Given the description of an element on the screen output the (x, y) to click on. 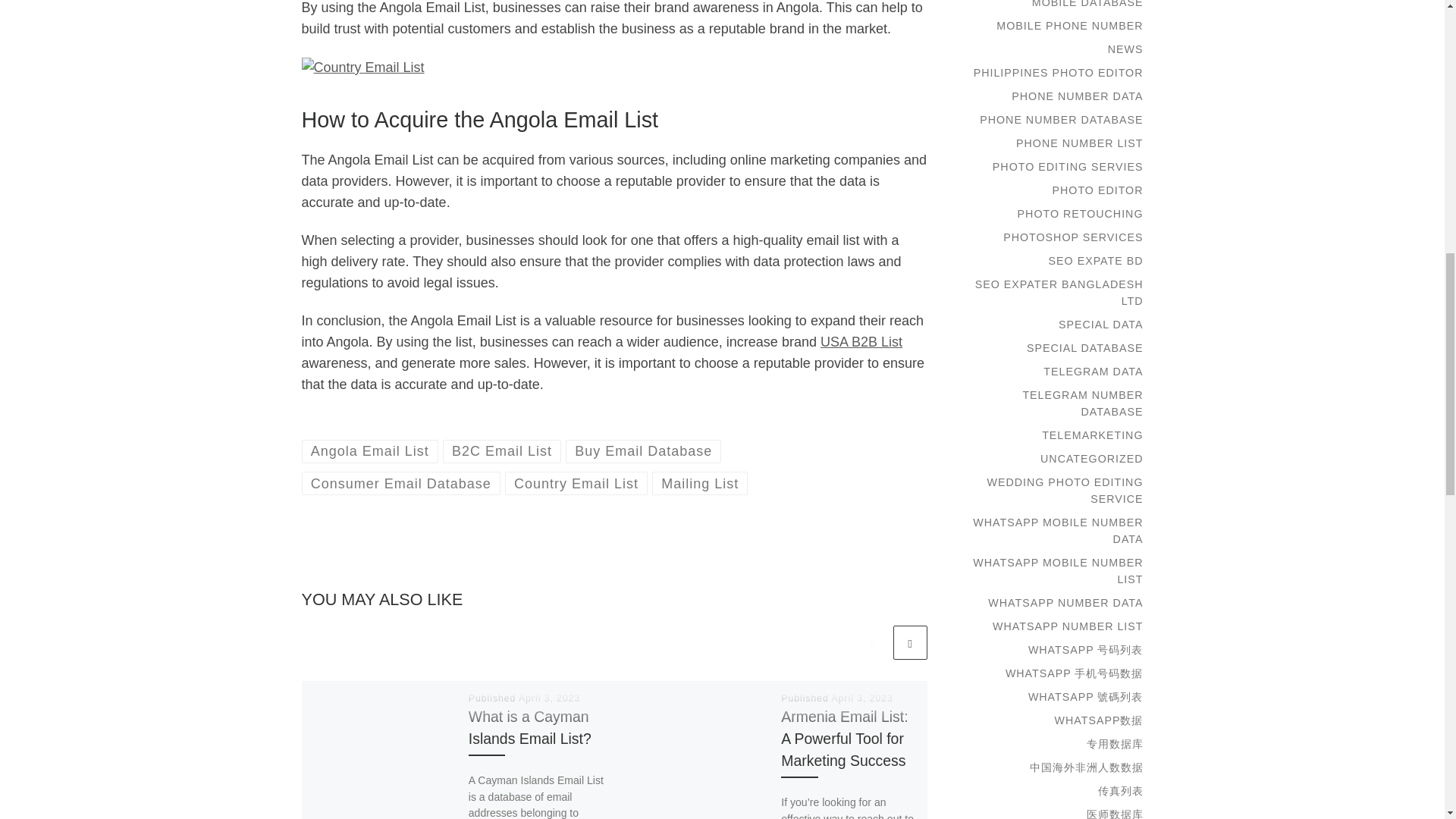
April 3, 2023 (861, 697)
B2C Email List (502, 451)
Mailing List (700, 483)
View all posts in B2C Email List (502, 451)
Angola Email List (370, 451)
Next related articles (910, 642)
Buy Email Database (644, 451)
View all posts in Buy Email Database (644, 451)
What is a Cayman Islands Email List? (529, 727)
April 3, 2023 (548, 697)
